Given the description of an element on the screen output the (x, y) to click on. 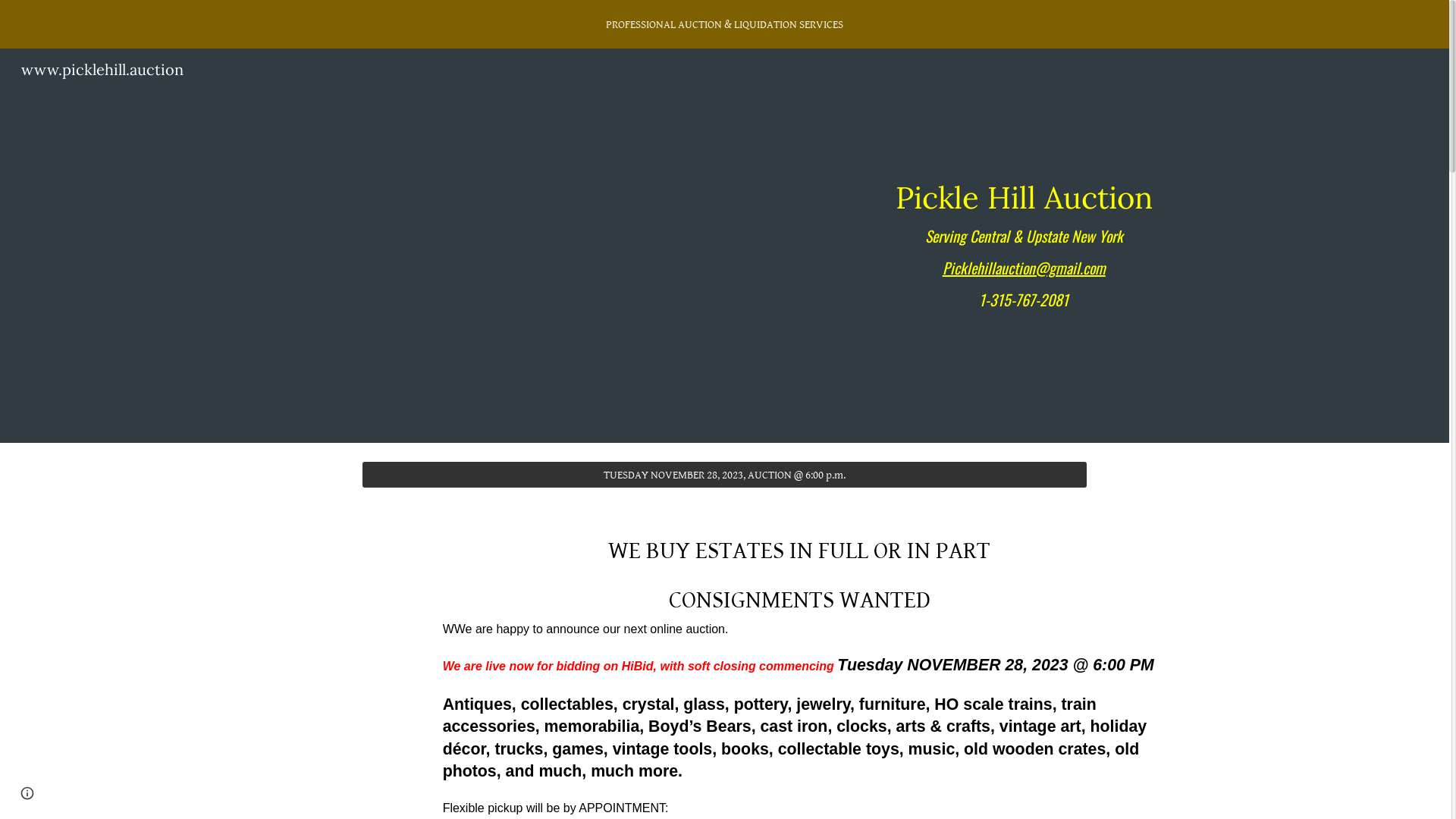
TUESDAY NOVEMBER 28, 2023, AUCTION @ 6:00 p.m. Element type: text (724, 474)
Picklehillauction@gmail.com Element type: text (1023, 268)
www.picklehill.auction Element type: text (102, 67)
